Given the description of an element on the screen output the (x, y) to click on. 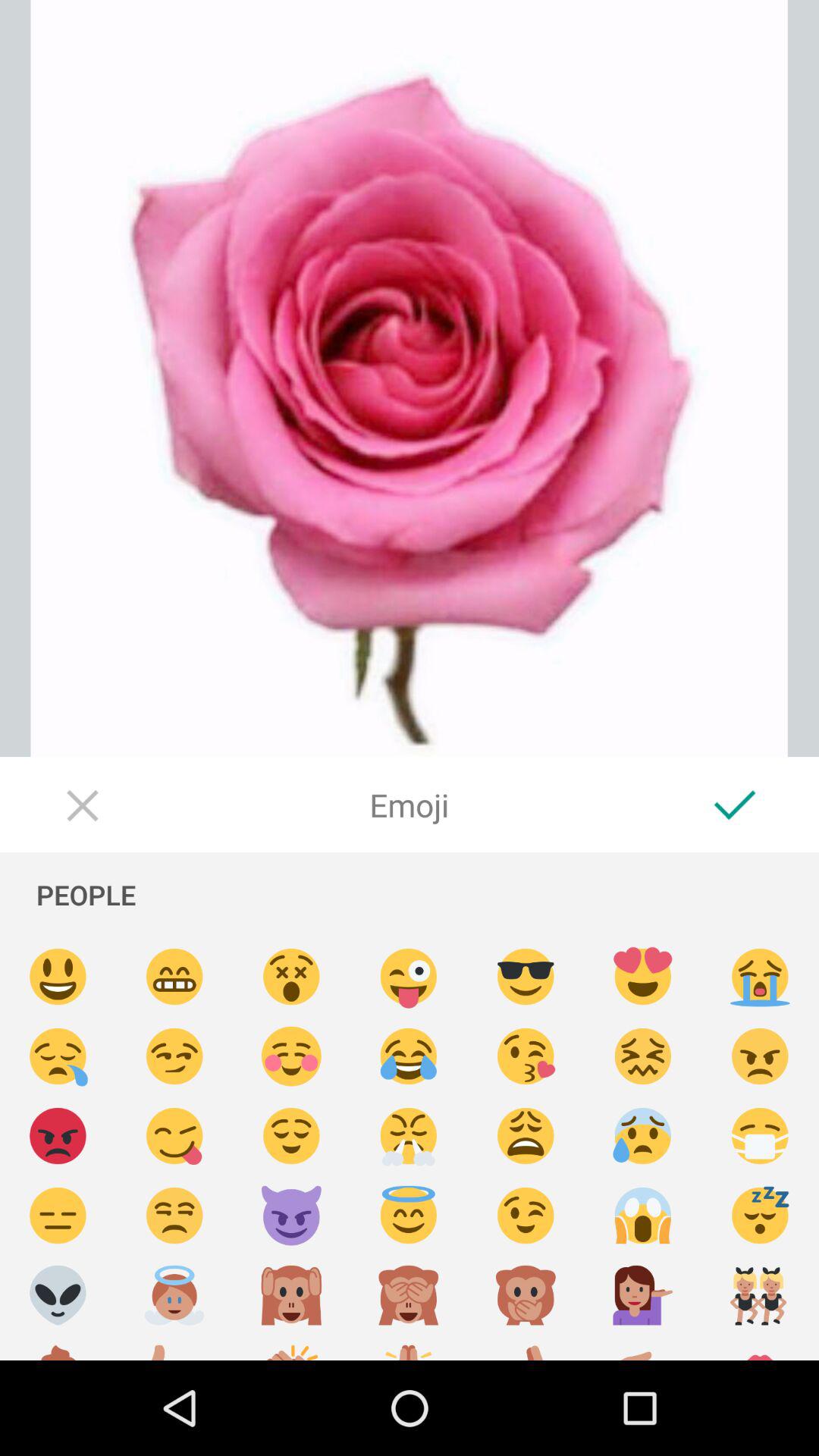
send emoji (291, 1295)
